Given the description of an element on the screen output the (x, y) to click on. 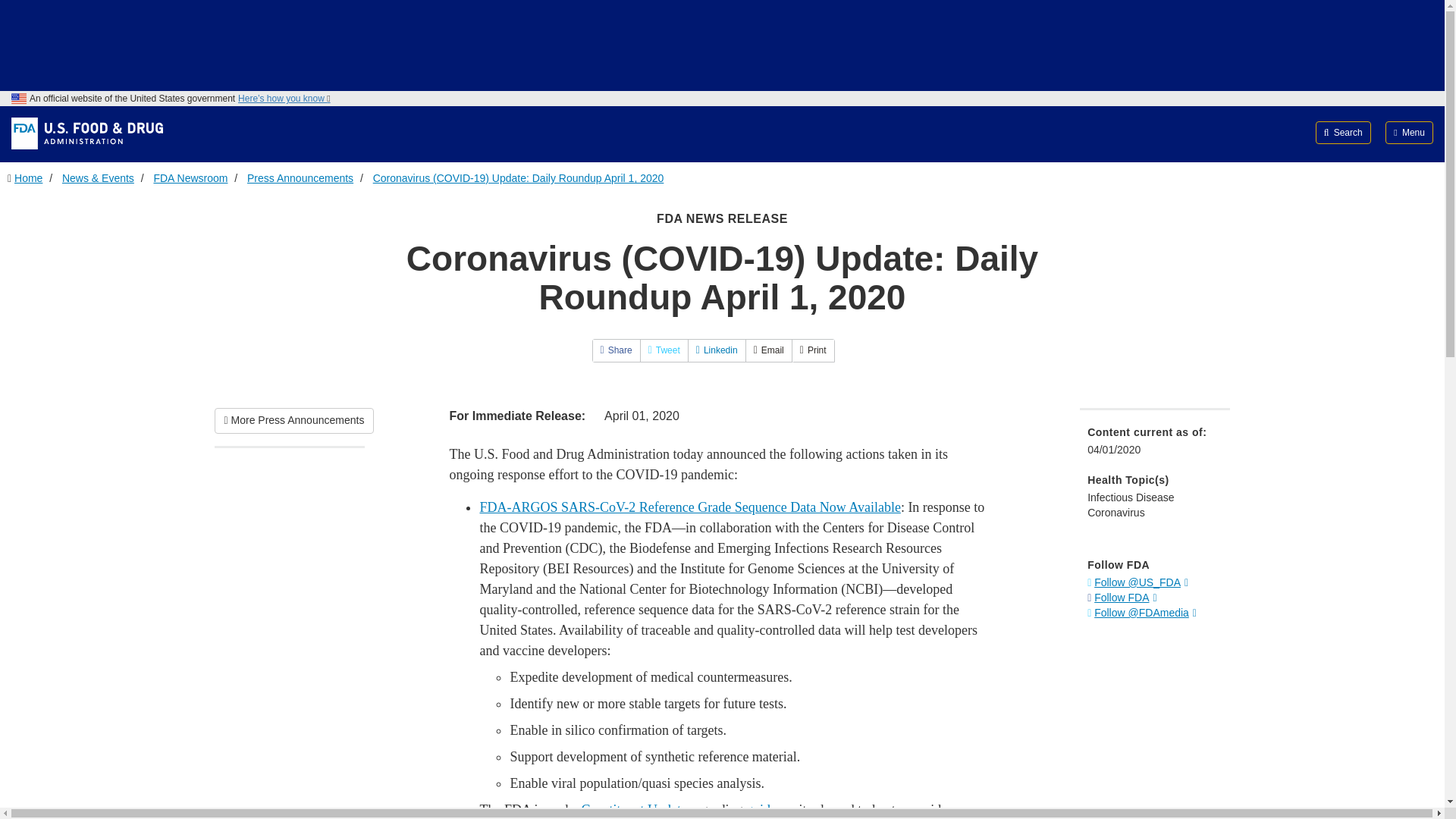
FDA-ARGOS SARS-CoV-2 Reference Grade Sequence Data  (689, 507)
  Menu (1409, 132)
  Search (1343, 132)
Print this page (813, 350)
